Given the description of an element on the screen output the (x, y) to click on. 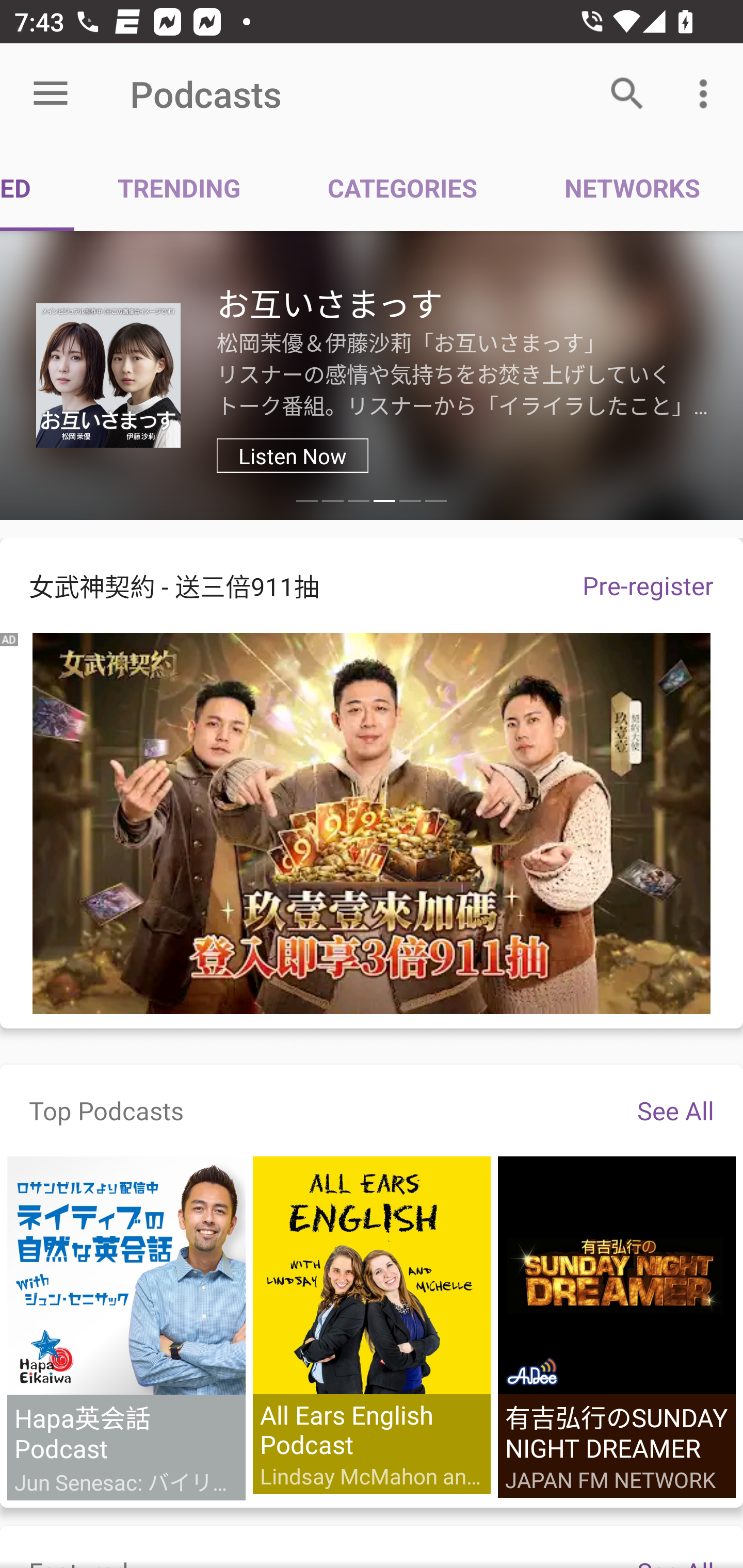
Open menu (50, 93)
Search (626, 93)
More options (706, 93)
TRENDING (178, 187)
CATEGORIES (401, 187)
NETWORKS (631, 187)
女武神契約 - 送三倍911抽 (276, 585)
Pre-register (648, 584)
Top Podcasts (106, 1109)
See All (675, 1109)
有吉弘行のSUNDAY NIGHT DREAMER JAPAN FM NETWORK (616, 1327)
